Given the description of an element on the screen output the (x, y) to click on. 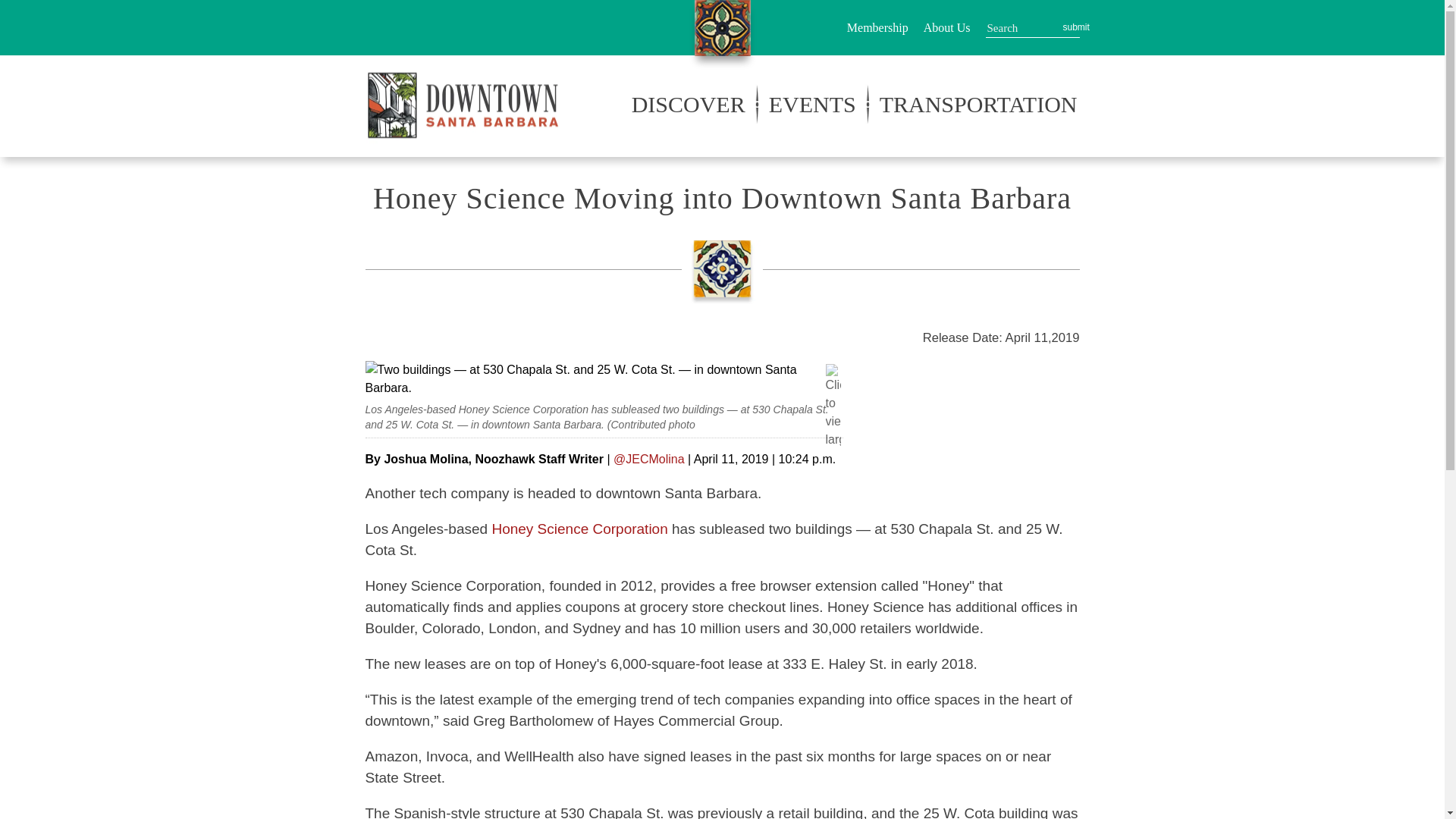
DISCOVER (688, 107)
TRANSPORTATION (978, 107)
EVENTS (812, 107)
About Us (947, 36)
Membership (877, 27)
submit (1070, 27)
